Given the description of an element on the screen output the (x, y) to click on. 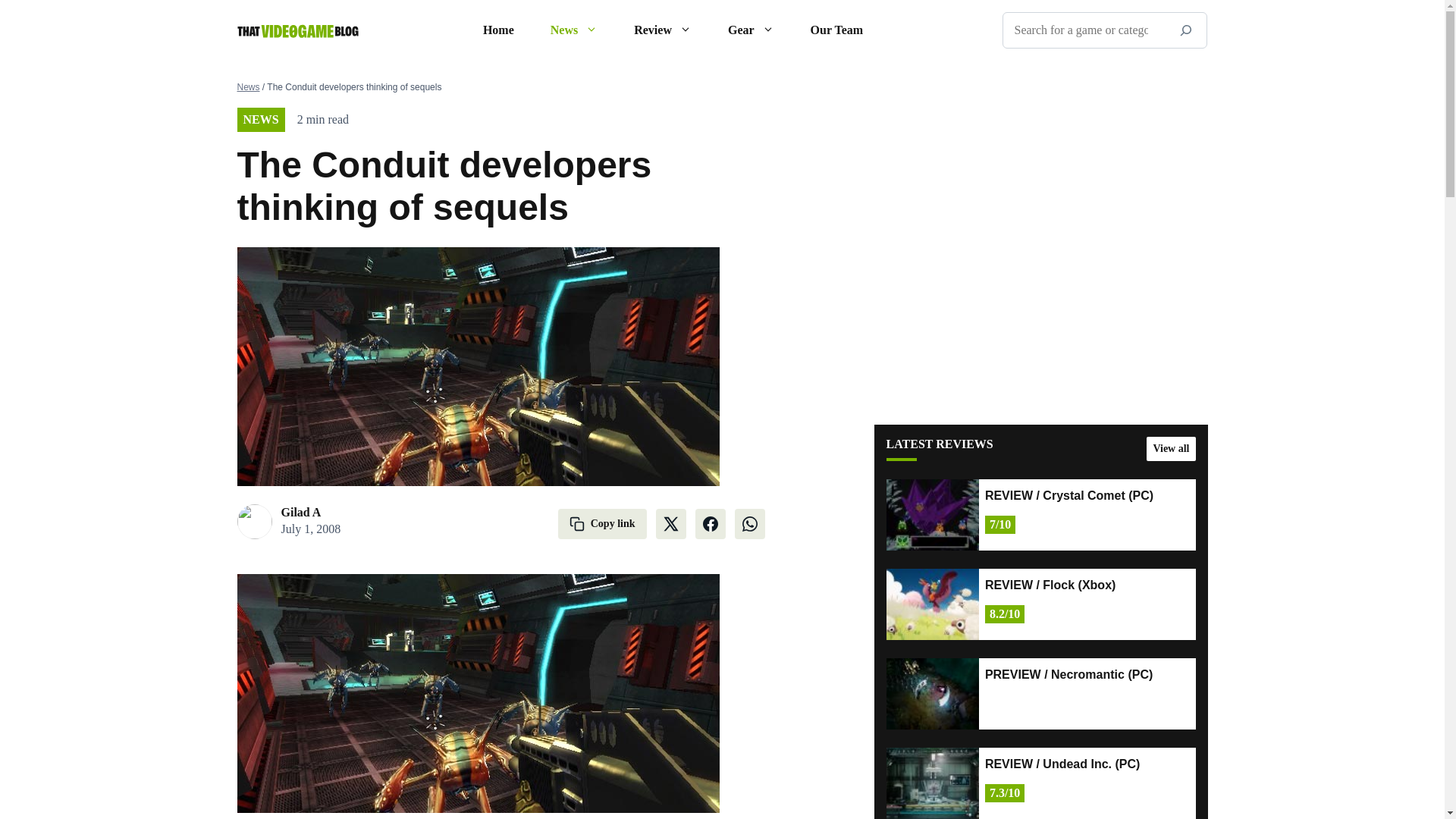
News (573, 29)
Gear (751, 29)
Home (498, 29)
Review (662, 29)
